Given the description of an element on the screen output the (x, y) to click on. 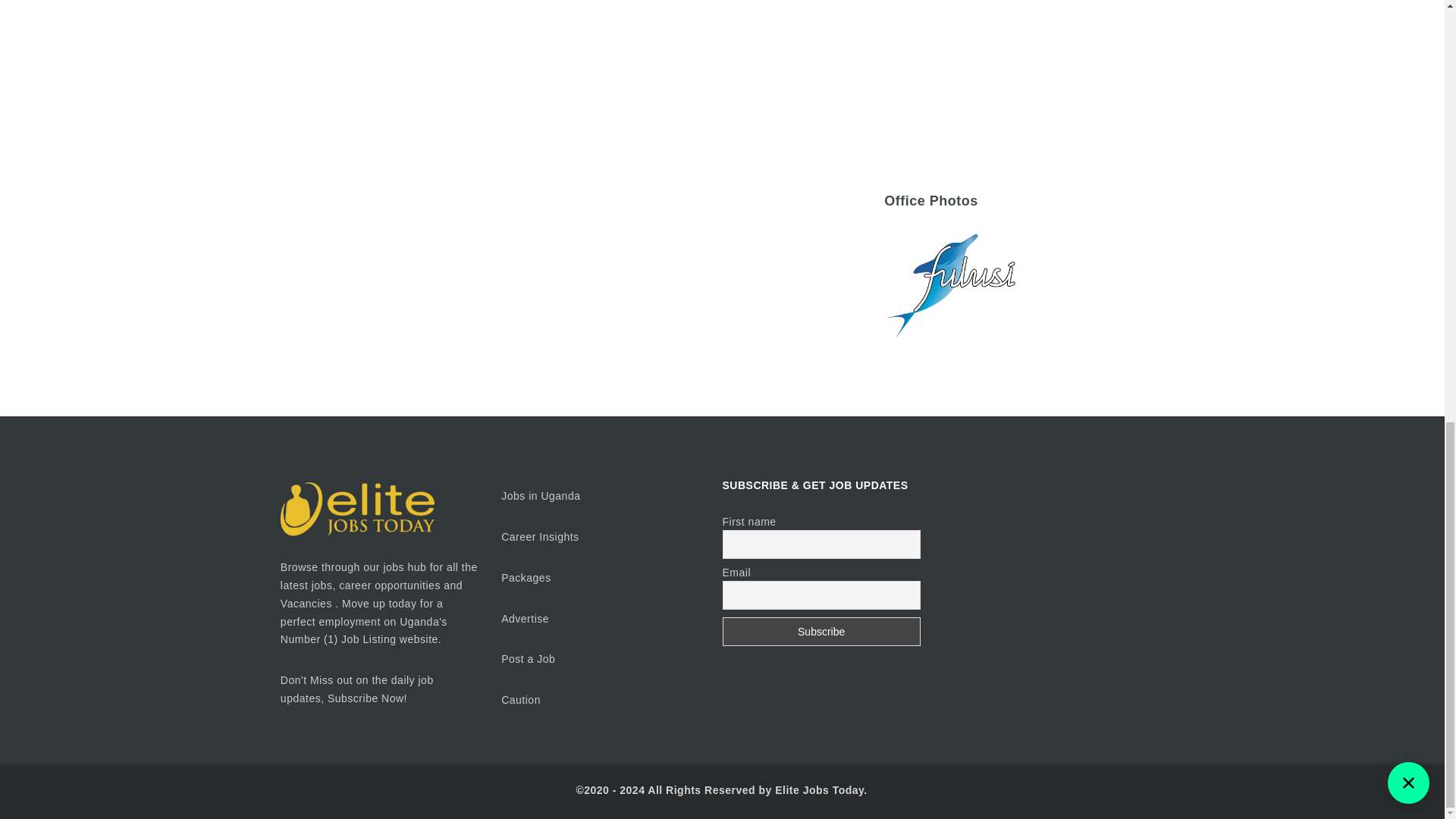
Advertise  (525, 618)
Subscribe (821, 631)
Subscribe (821, 631)
Career Insights (539, 536)
Jobs in Uganda (539, 495)
Packages (525, 577)
Post a Job (527, 658)
Caution (520, 699)
Advertisement (1023, 74)
